Given the description of an element on the screen output the (x, y) to click on. 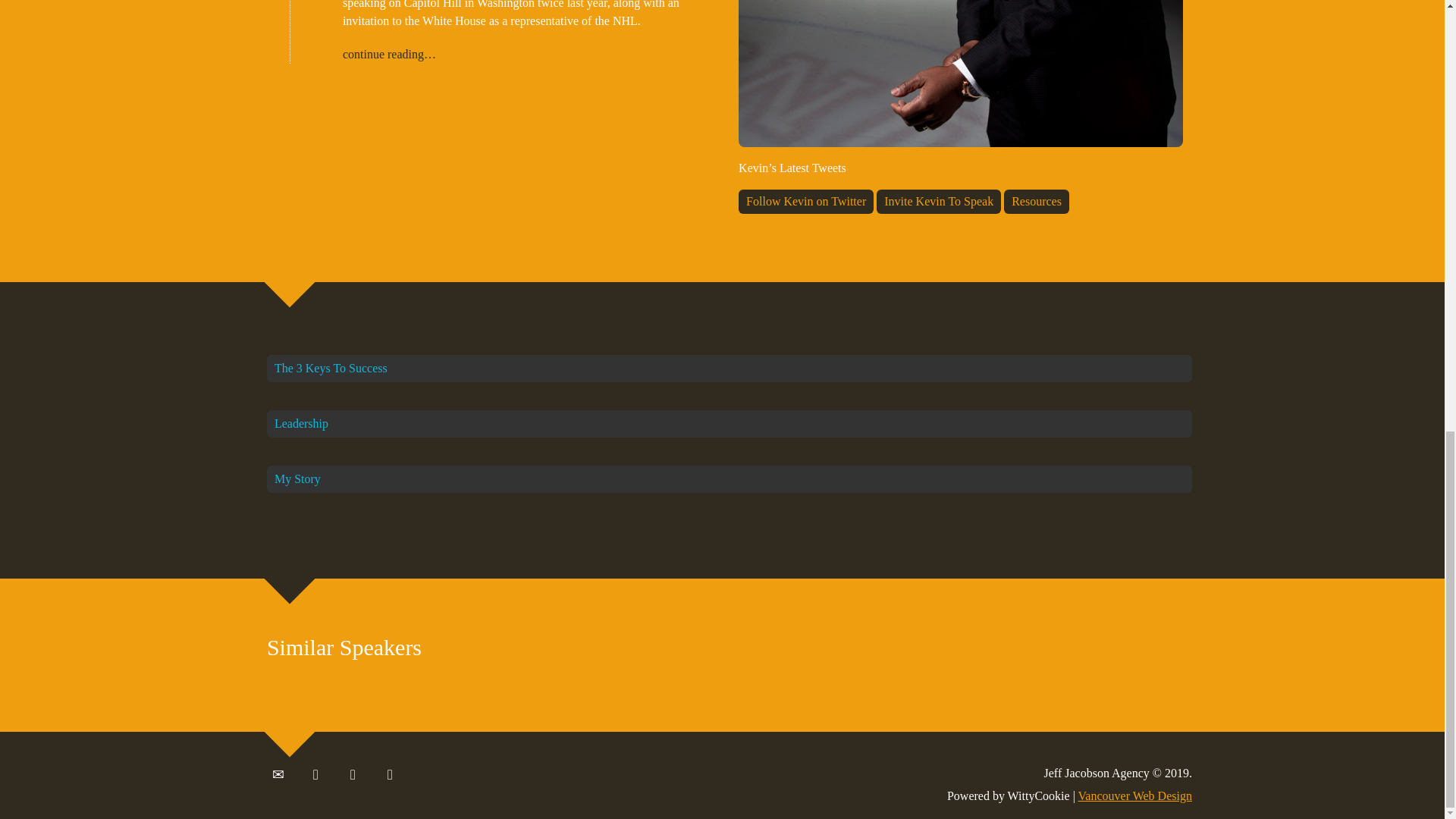
agencyjj - facebook (352, 775)
Vancouver Web Design (1135, 795)
agencyjj - twitter (315, 775)
Jeff Jacobson Agency - linkedin (389, 775)
Vancouver Web Design (1135, 795)
Invite Kevin To Speak (938, 201)
Resources (1036, 201)
Follow Kevin on Twitter (805, 201)
Jeff Jacobson - mail (277, 775)
